Given the description of an element on the screen output the (x, y) to click on. 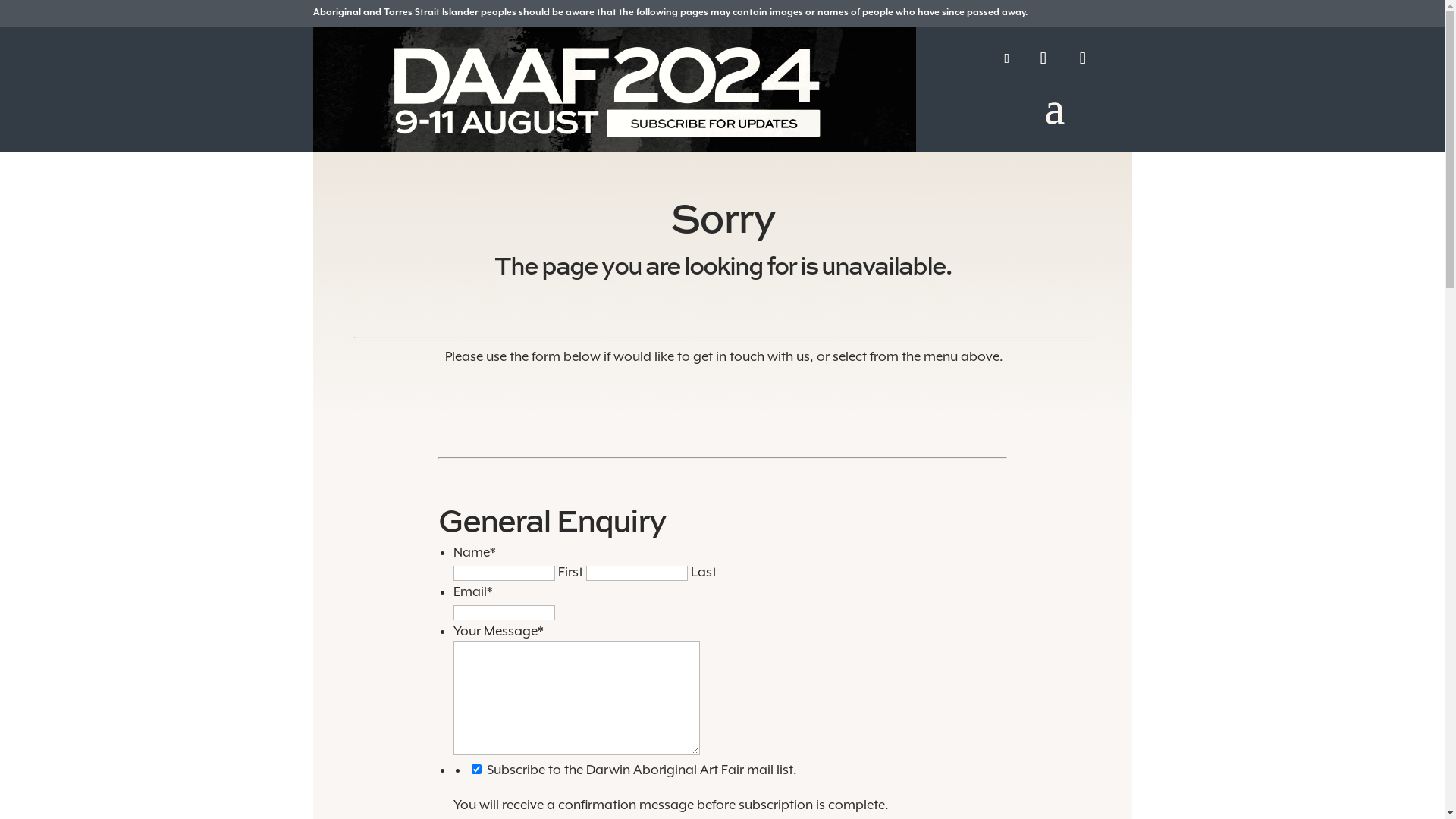
DAAF-Header-Banner-2024 Element type: hover (613, 89)
Follow on X Element type: hover (1043, 58)
Follow on Facebook Element type: hover (1006, 58)
Follow on Instagram Element type: hover (1082, 58)
